Given the description of an element on the screen output the (x, y) to click on. 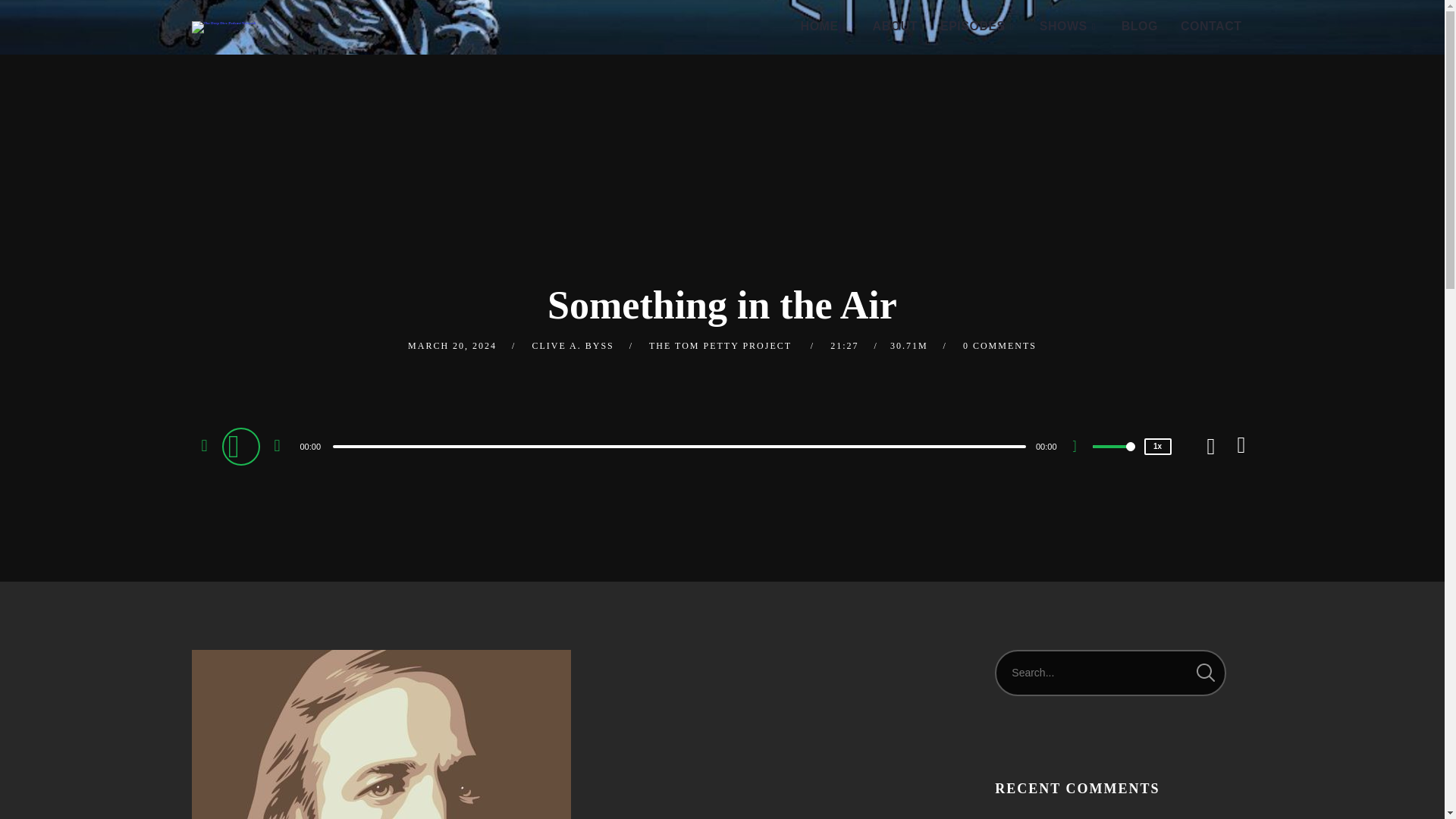
Mute (1079, 447)
Speed Rate (1156, 446)
The Deep Dive Podcast Network (223, 27)
Play (242, 445)
SHOWS (1068, 26)
CONTACT (1211, 26)
BLOG (1139, 26)
ABOUT (894, 26)
EPISODES (977, 26)
HOME (825, 26)
